Given the description of an element on the screen output the (x, y) to click on. 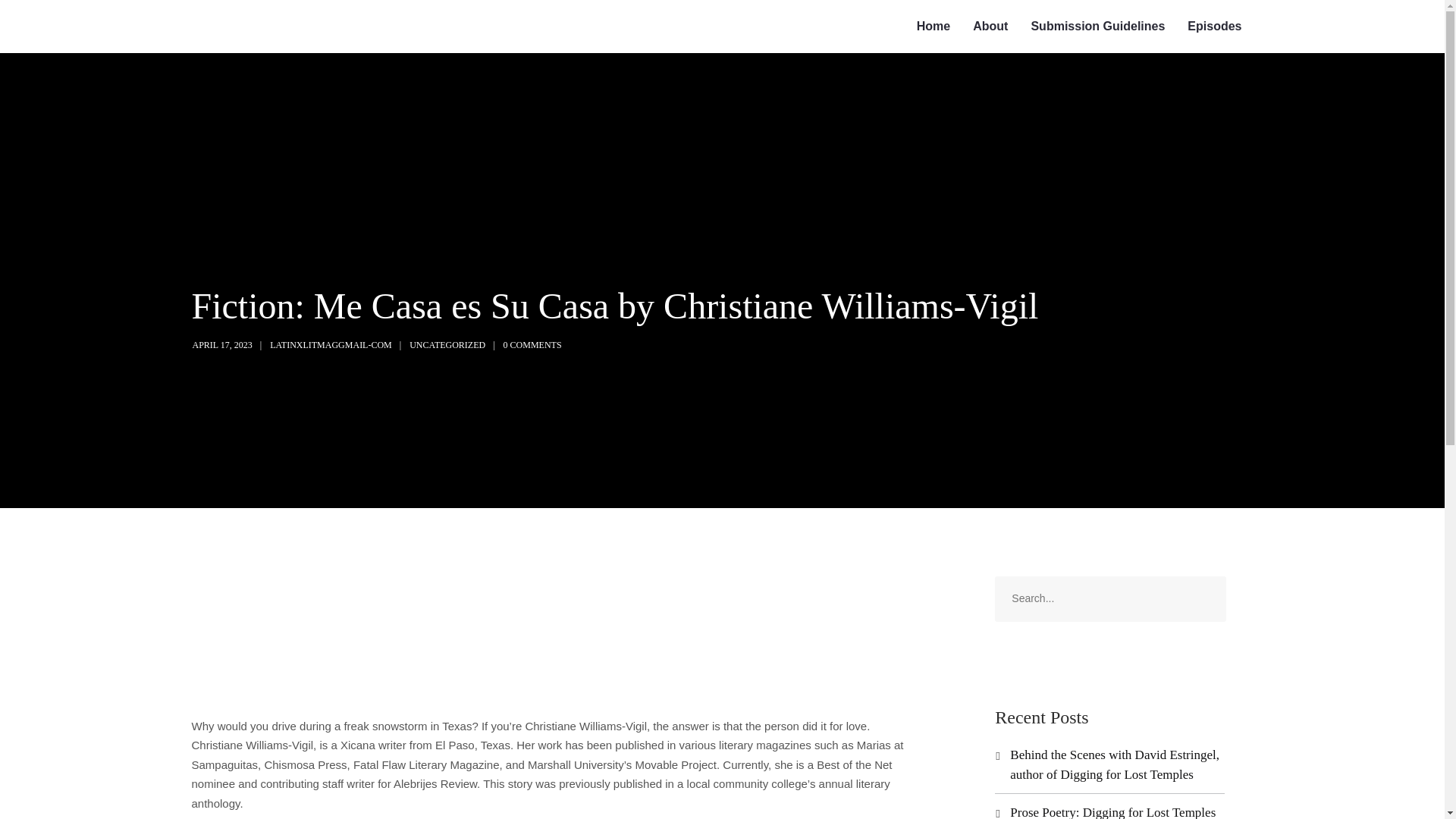
0 COMMENTS (532, 344)
About (989, 26)
Prose Poetry: Digging for Lost Temples by David Estringel (1112, 812)
Home (932, 26)
Episodes (1214, 26)
Submission Guidelines (1097, 26)
Submit (31, 22)
UNCATEGORIZED (446, 344)
LATINXLITMAGGMAIL-COM (330, 344)
